Given the description of an element on the screen output the (x, y) to click on. 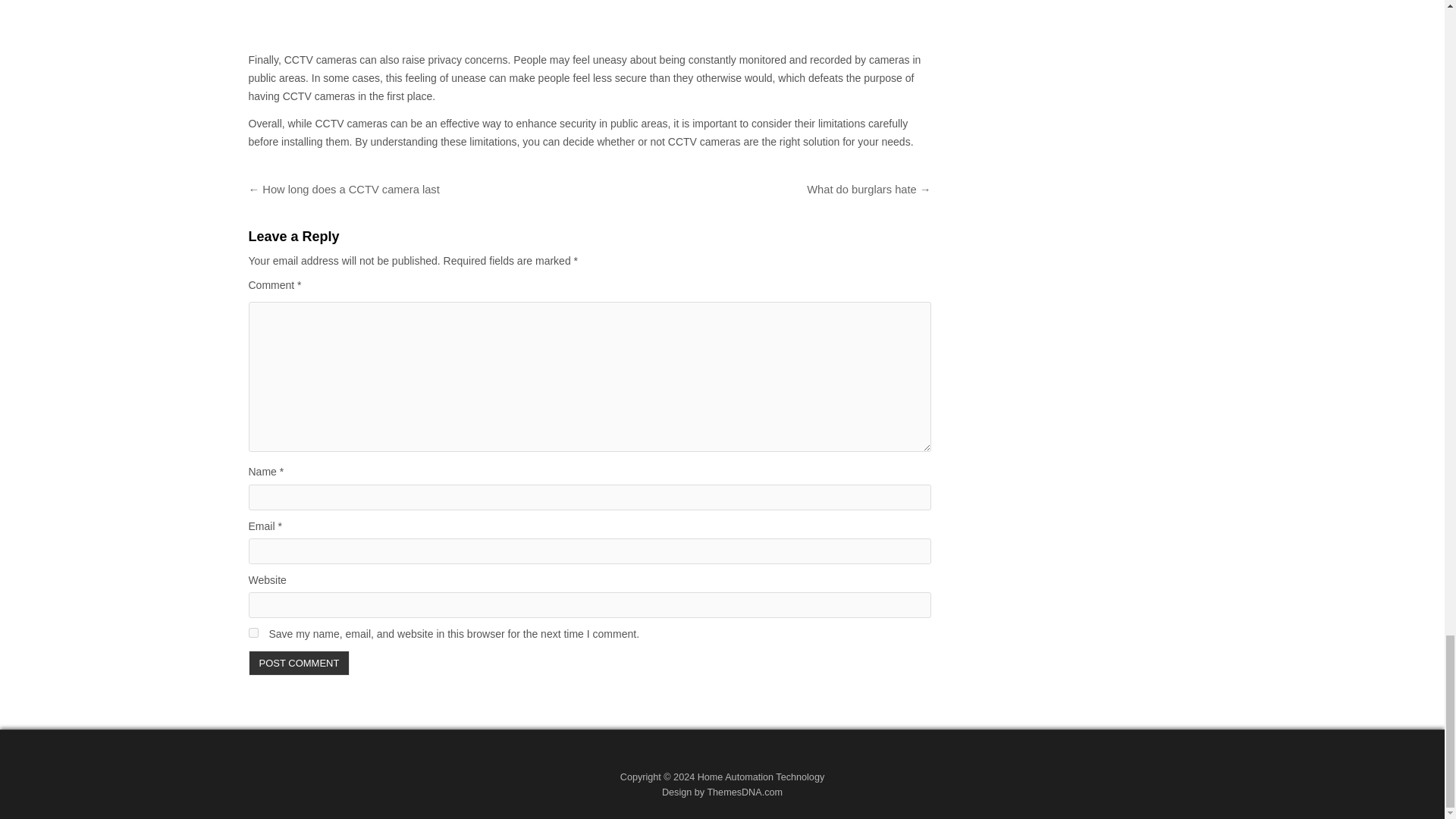
yes (253, 633)
Advertisement (589, 21)
Post Comment (299, 662)
Design by ThemesDNA.com (722, 792)
Post Comment (299, 662)
